Given the description of an element on the screen output the (x, y) to click on. 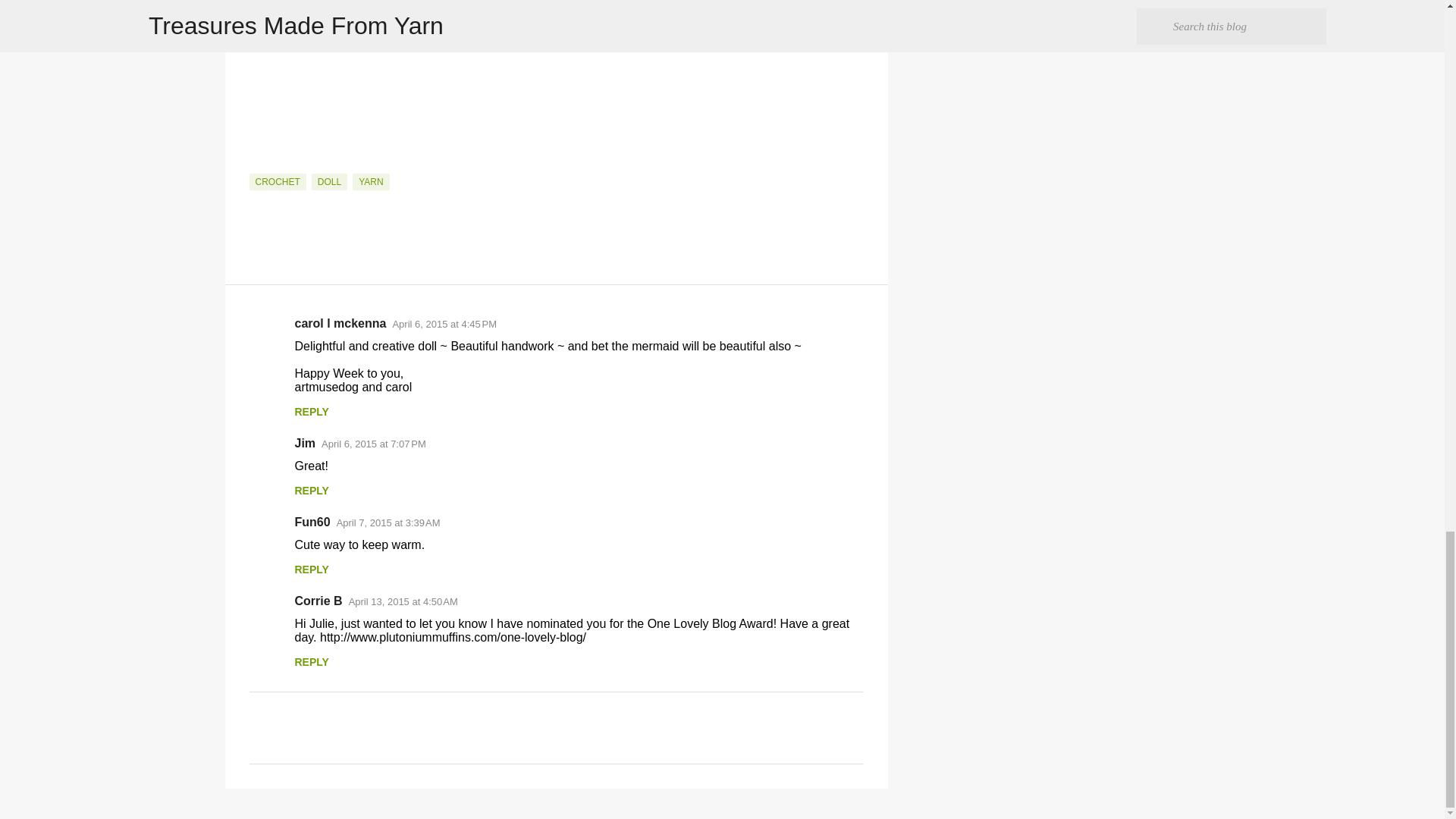
Jim (304, 442)
REPLY (311, 411)
carol l mckenna (339, 323)
REPLY (311, 569)
REPLY (311, 490)
DOLL (329, 181)
Corrie B (318, 600)
CROCHET (276, 181)
